Given the description of an element on the screen output the (x, y) to click on. 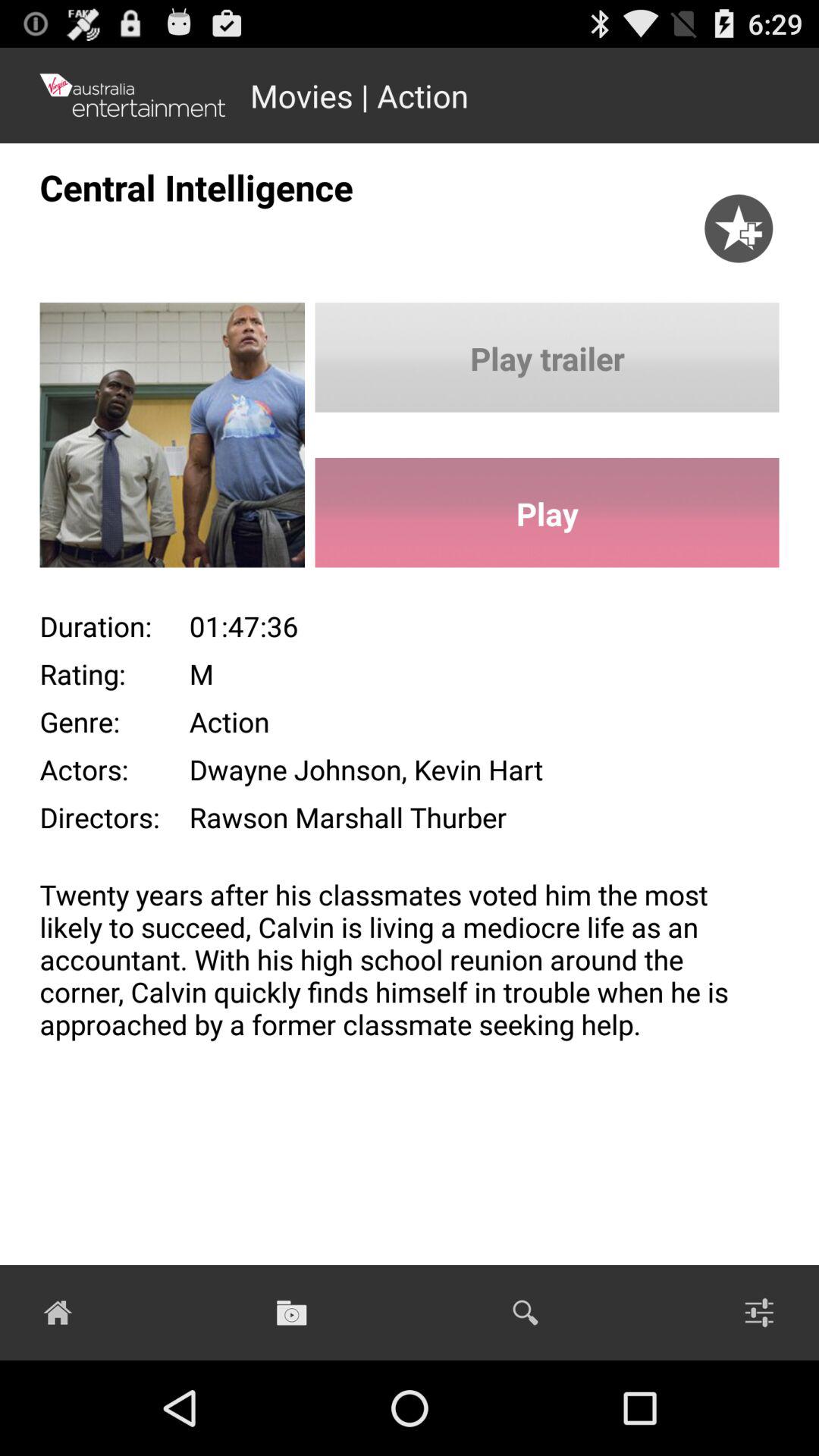
open the item next to the central intelligence (738, 212)
